Given the description of an element on the screen output the (x, y) to click on. 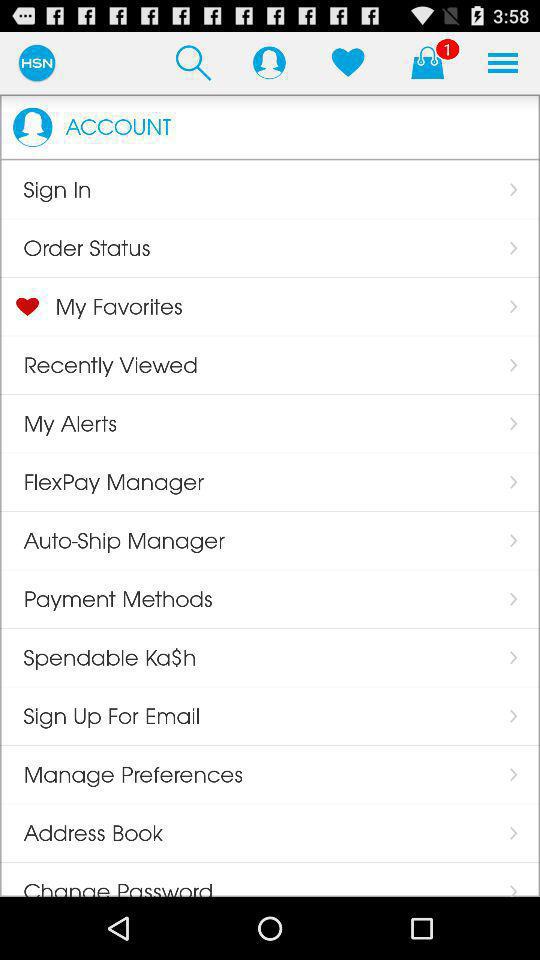
select flexpay manager (102, 482)
